Given the description of an element on the screen output the (x, y) to click on. 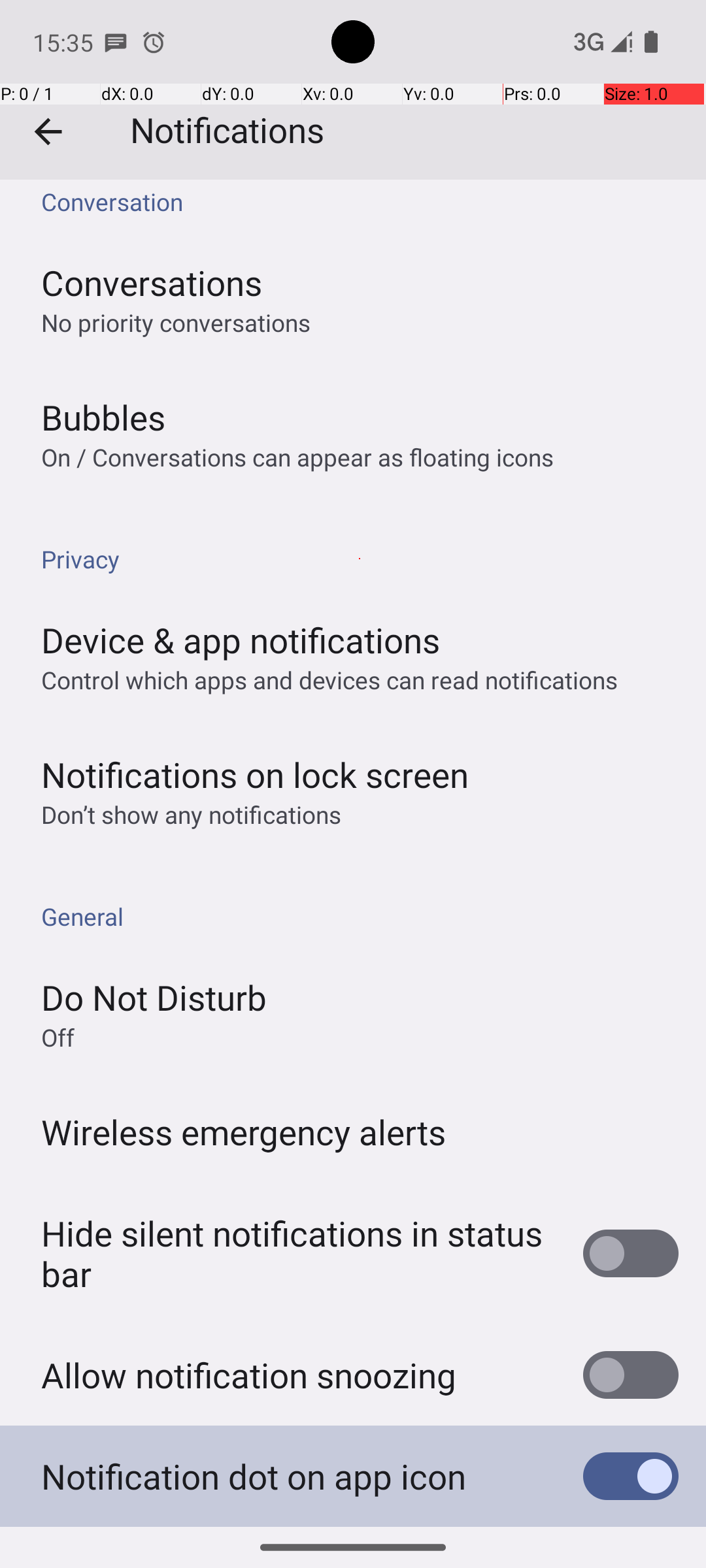
Wireless emergency alerts Element type: android.widget.TextView (243, 1131)
Hide silent notifications in status bar Element type: android.widget.TextView (298, 1252)
Allow notification snoozing Element type: android.widget.TextView (248, 1374)
Notification dot on app icon Element type: android.widget.TextView (253, 1476)
